Given the description of an element on the screen output the (x, y) to click on. 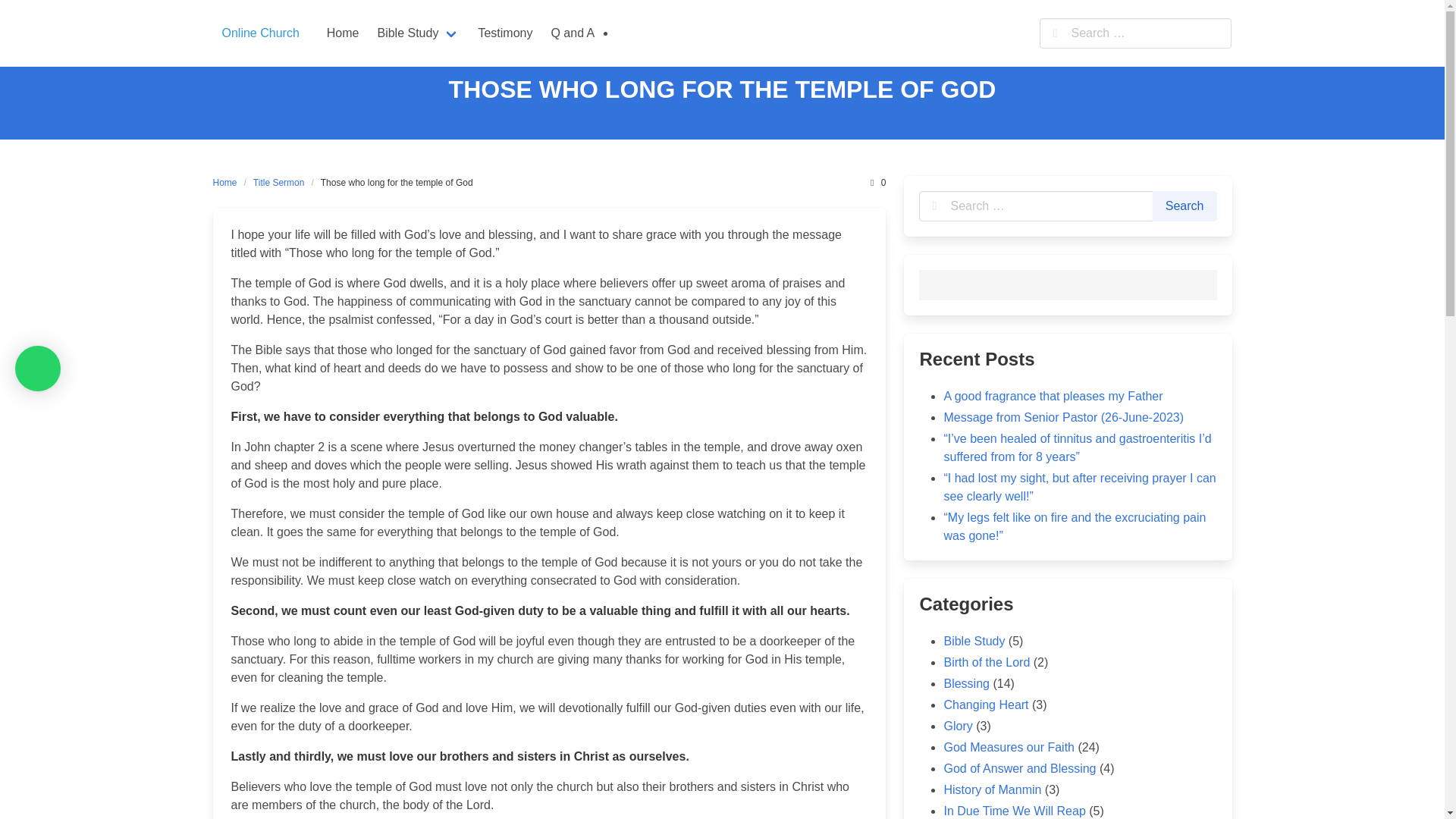
Home (227, 182)
Those who long for the temple of God (397, 182)
Search (1185, 205)
Testimony (504, 33)
Online Church (260, 33)
Search (1185, 205)
Home (342, 33)
Online Church (260, 33)
Home (342, 33)
Q and A (572, 33)
